Given the description of an element on the screen output the (x, y) to click on. 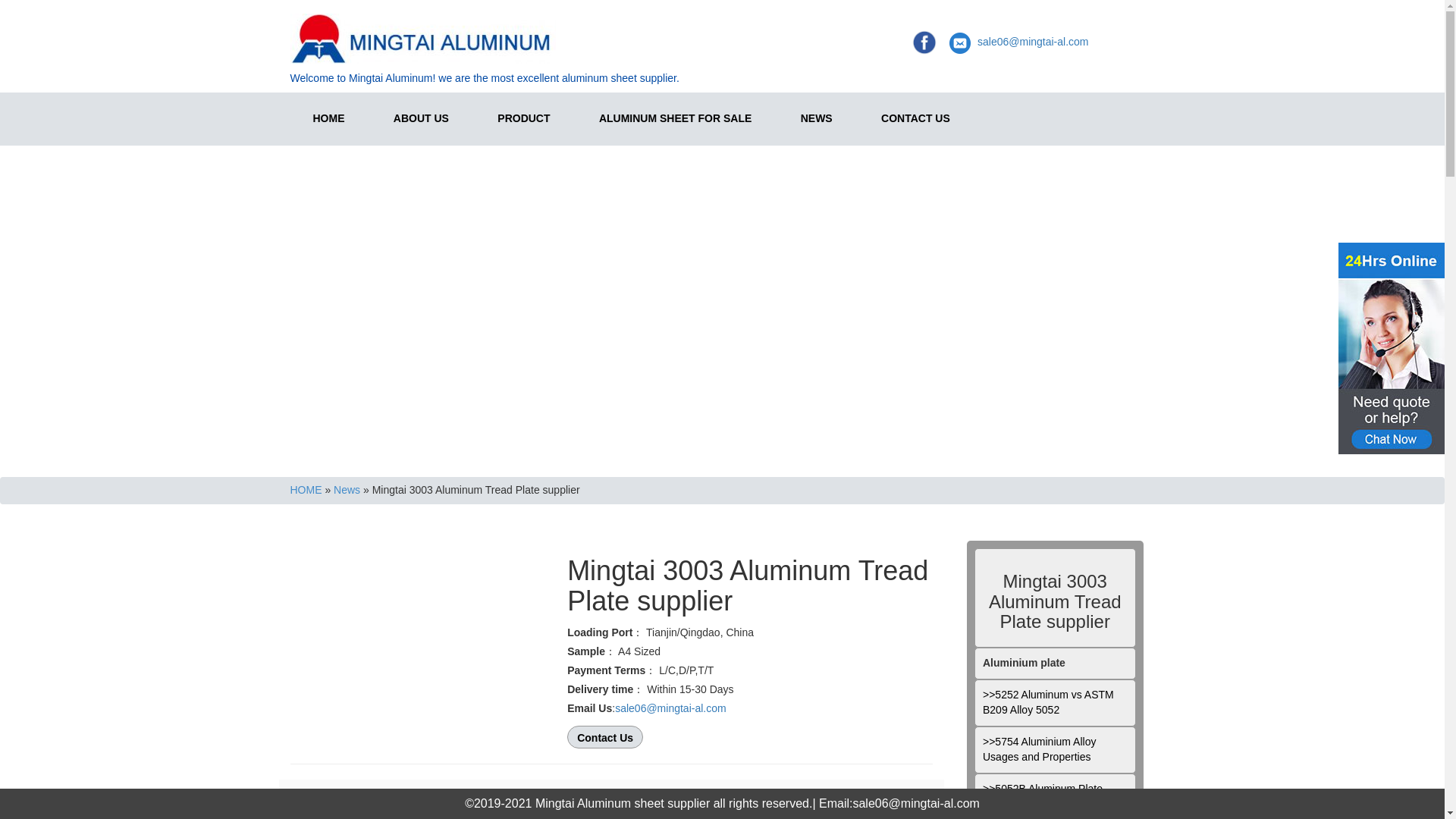
ABOUT US (421, 118)
HOME (305, 490)
5052B Aluminum Plate (1054, 789)
Contact Us (750, 736)
HOME (327, 118)
ALUMINUM SHEET FOR SALE (675, 118)
Contact Us (750, 736)
News (346, 490)
CONTACT US (915, 118)
6061 t4 Aluminum Properties (1054, 812)
